Given the description of an element on the screen output the (x, y) to click on. 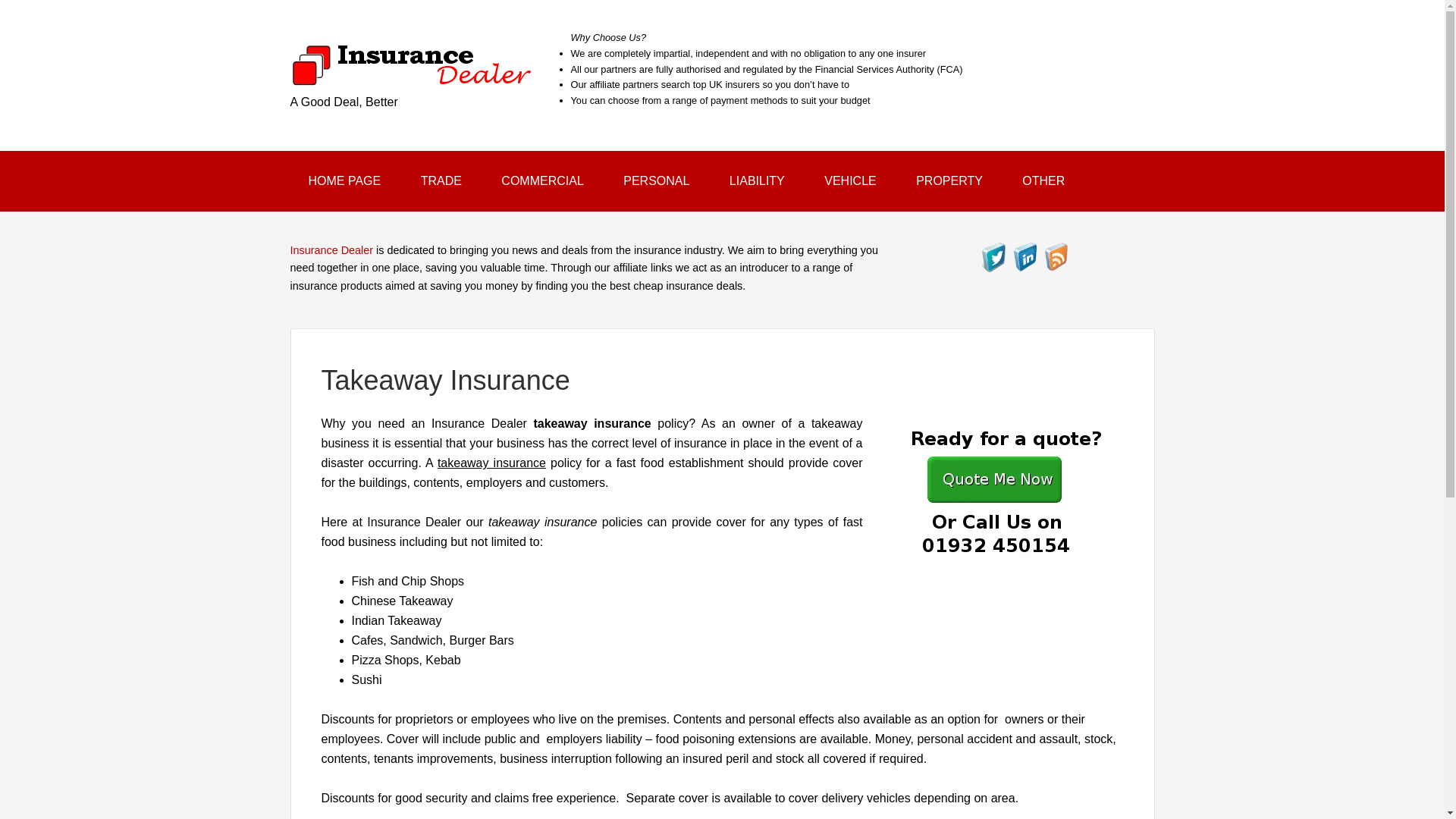
VEHICLE (849, 180)
Insurance Dealer (410, 77)
TRADE (441, 180)
HOME PAGE (343, 180)
Check Our Feed (1056, 264)
Visit Us On Twitter (993, 264)
LIABILITY (757, 180)
PERSONAL (656, 180)
Visit Us On Linkedin (1025, 264)
COMMERCIAL (542, 180)
Quote me now  (1002, 489)
